Given the description of an element on the screen output the (x, y) to click on. 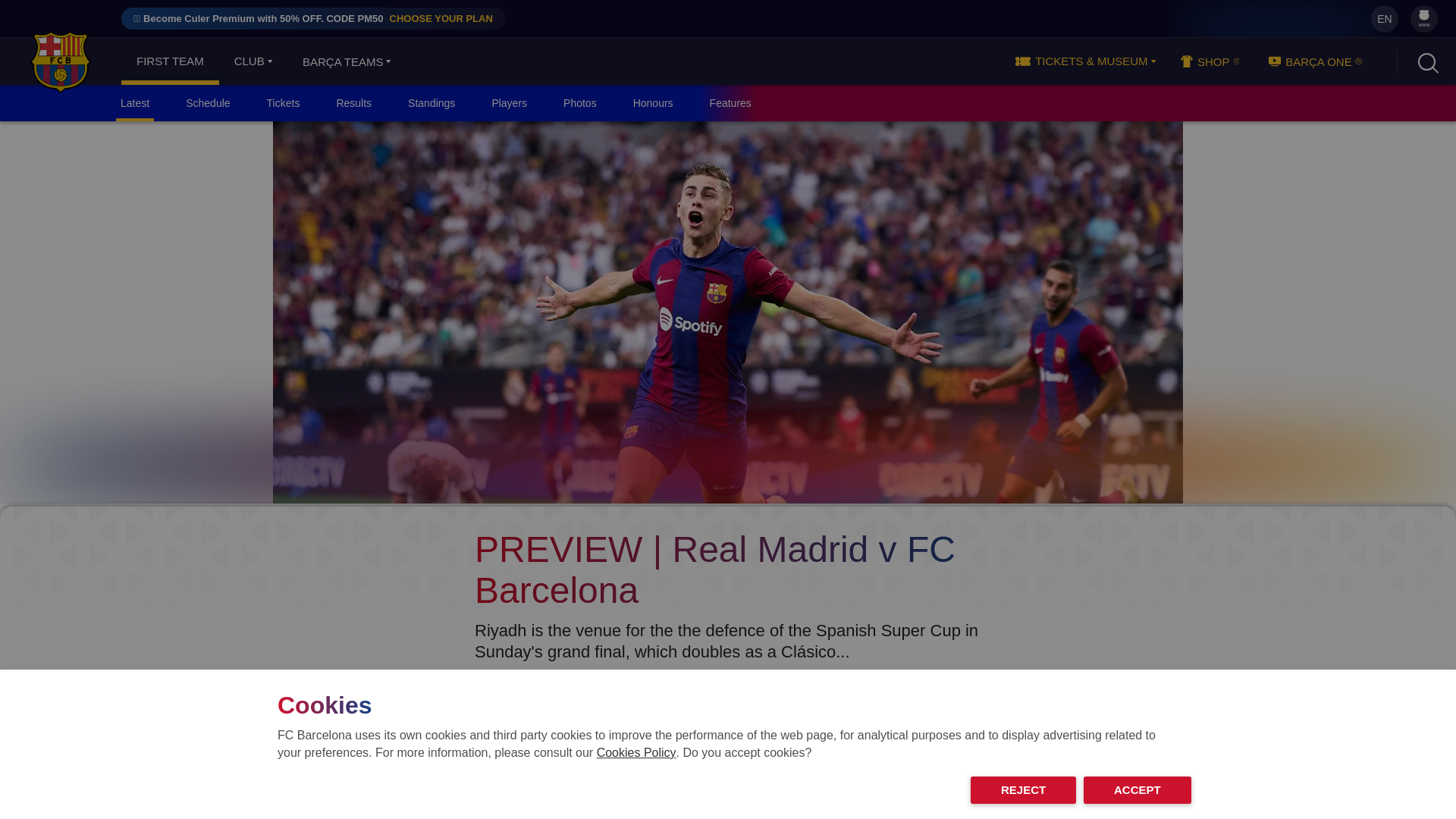
ACCEPT (1137, 789)
Visit www.fcbarcelona.com (60, 61)
Cookies Policy (636, 752)
REJECT (1023, 789)
